Given the description of an element on the screen output the (x, y) to click on. 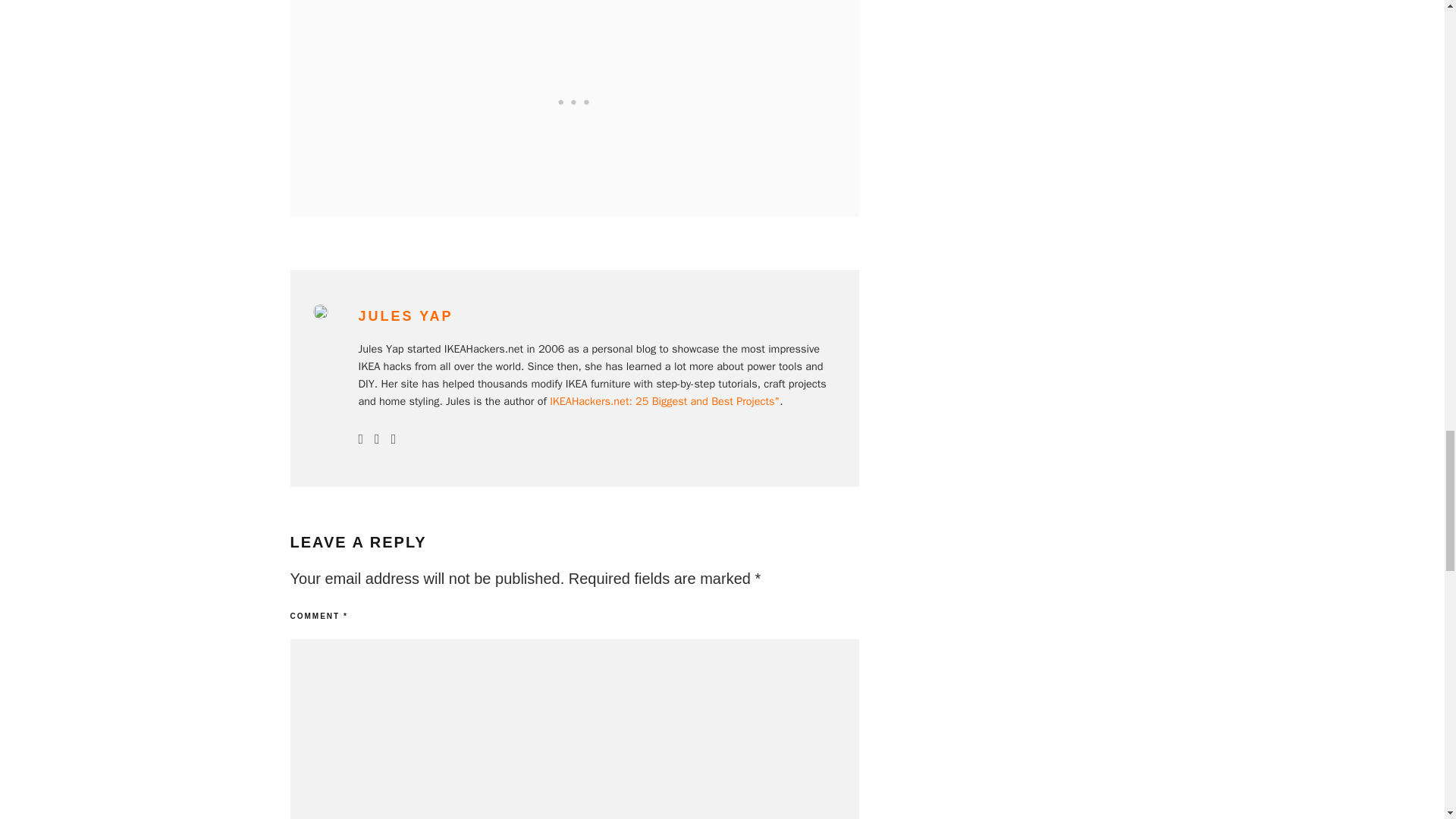
JULES YAP (405, 315)
